Given the description of an element on the screen output the (x, y) to click on. 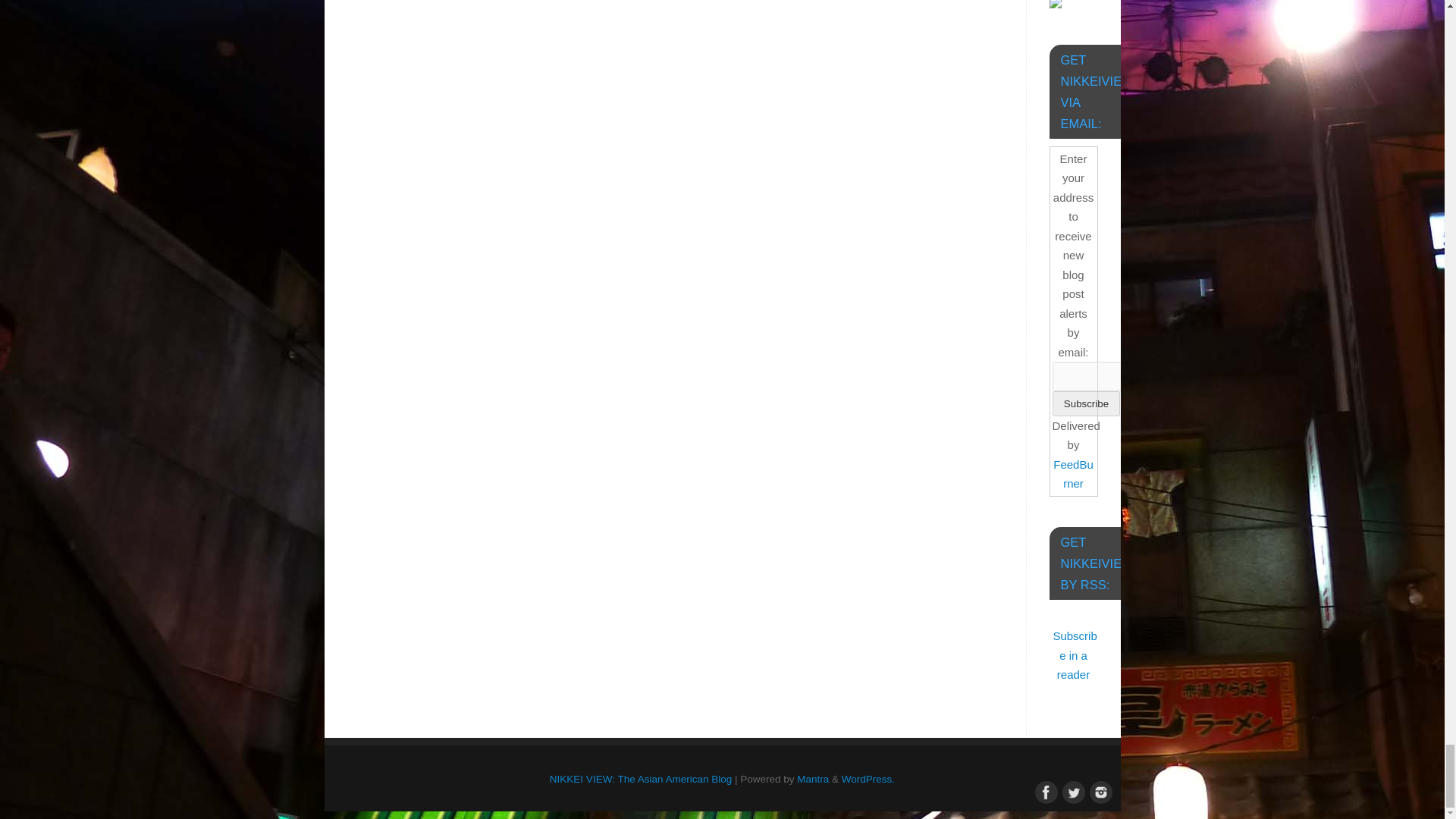
Subscribe (1086, 403)
